Given the description of an element on the screen output the (x, y) to click on. 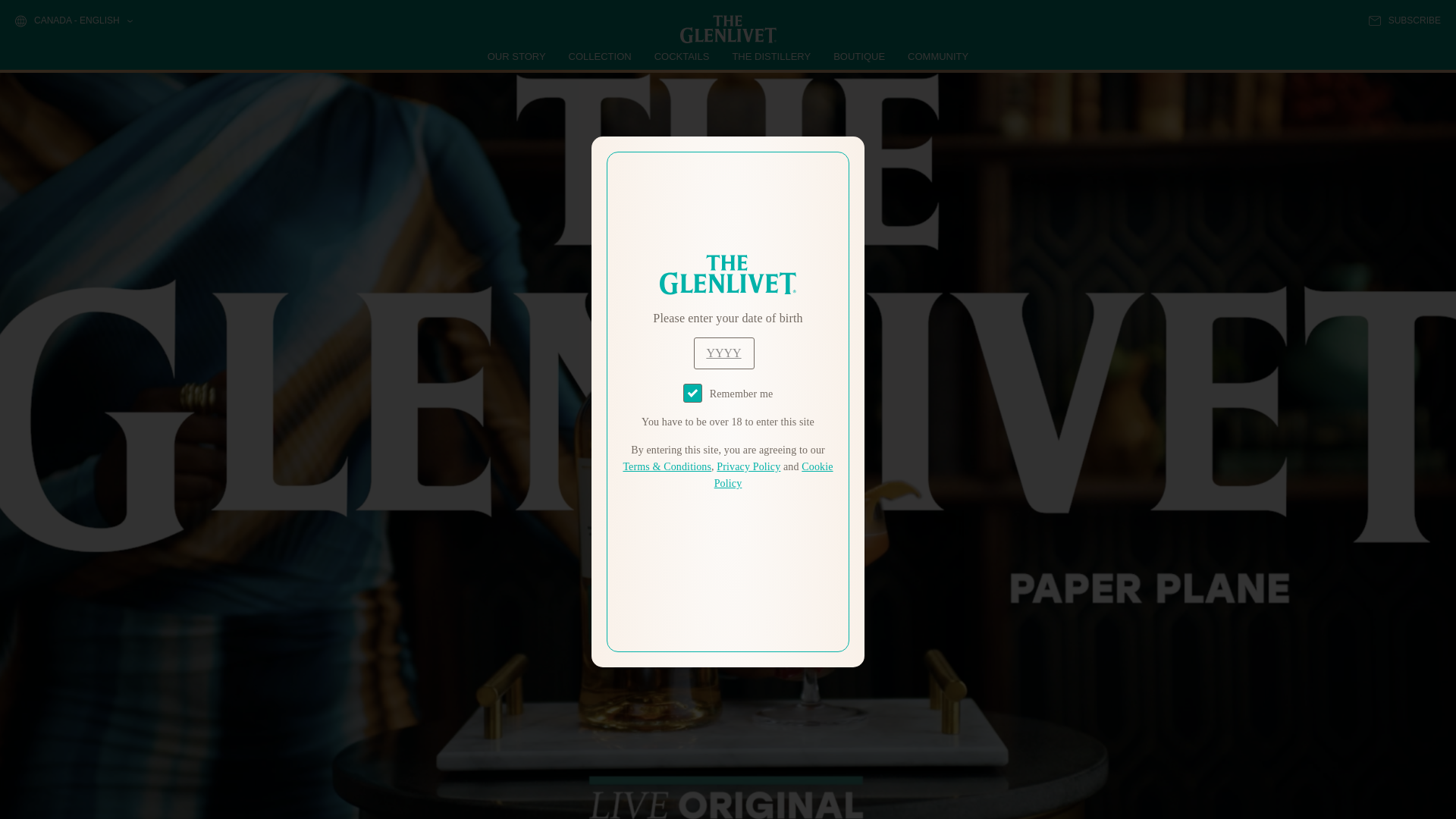
Privacy Policy (748, 466)
OUR STORY (516, 56)
CANADA - ENGLISH (73, 21)
Cookie Policy (773, 474)
COCKTAILS (681, 56)
SUBSCRIBE (1404, 20)
COMMUNITY (937, 56)
year (723, 353)
BOUTIQUE (858, 56)
COLLECTION (600, 56)
THE DISTILLERY (771, 56)
